Given the description of an element on the screen output the (x, y) to click on. 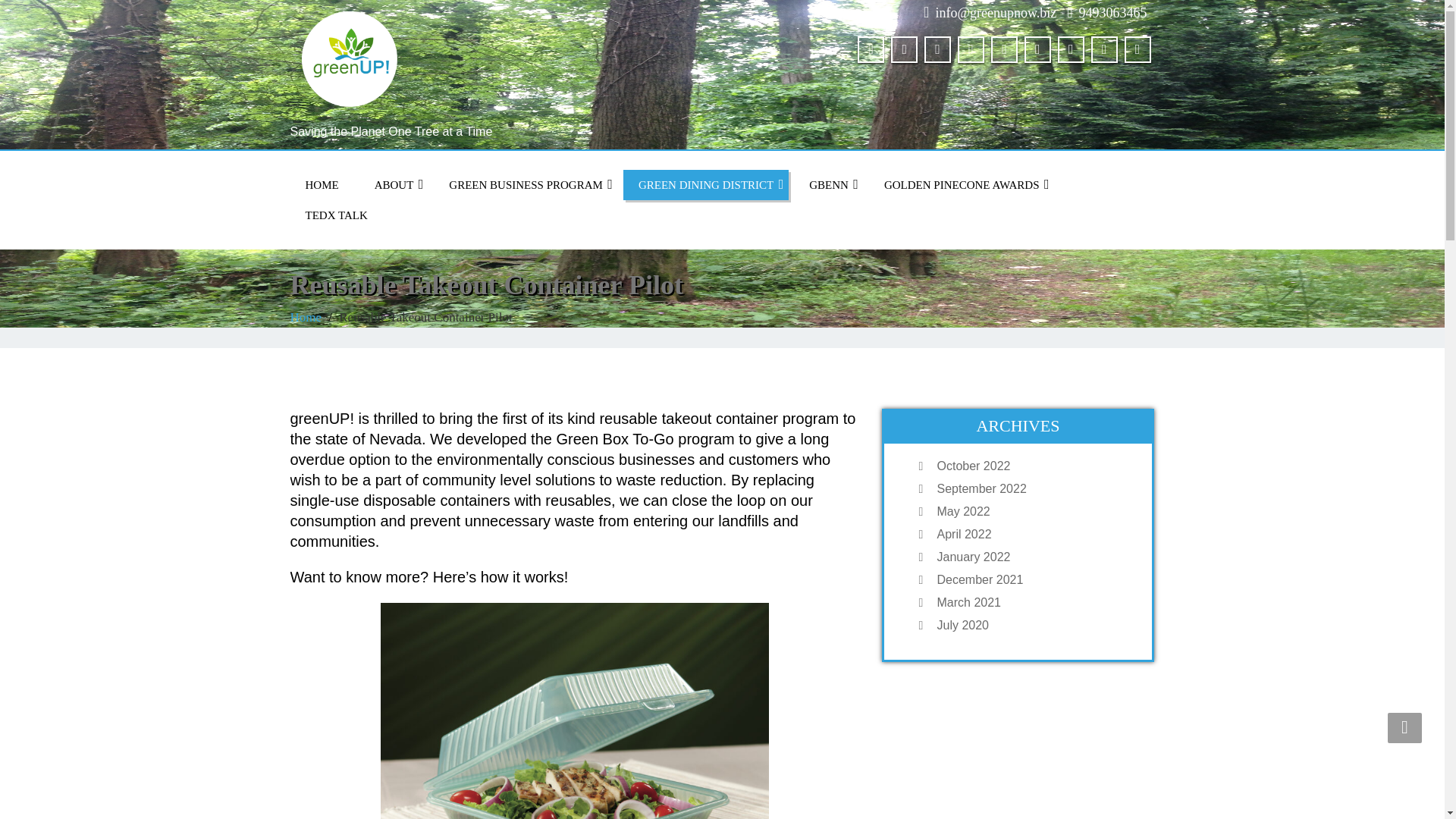
Home (305, 317)
GBENN (828, 184)
ABOUT (394, 184)
October 2022 (1033, 466)
HOME (321, 184)
9493063465 (1112, 12)
TEDX TALK (335, 214)
GREEN DINING DISTRICT (706, 184)
GREEN BUSINESS PROGRAM (525, 184)
GREENUP! (499, 58)
